Given the description of an element on the screen output the (x, y) to click on. 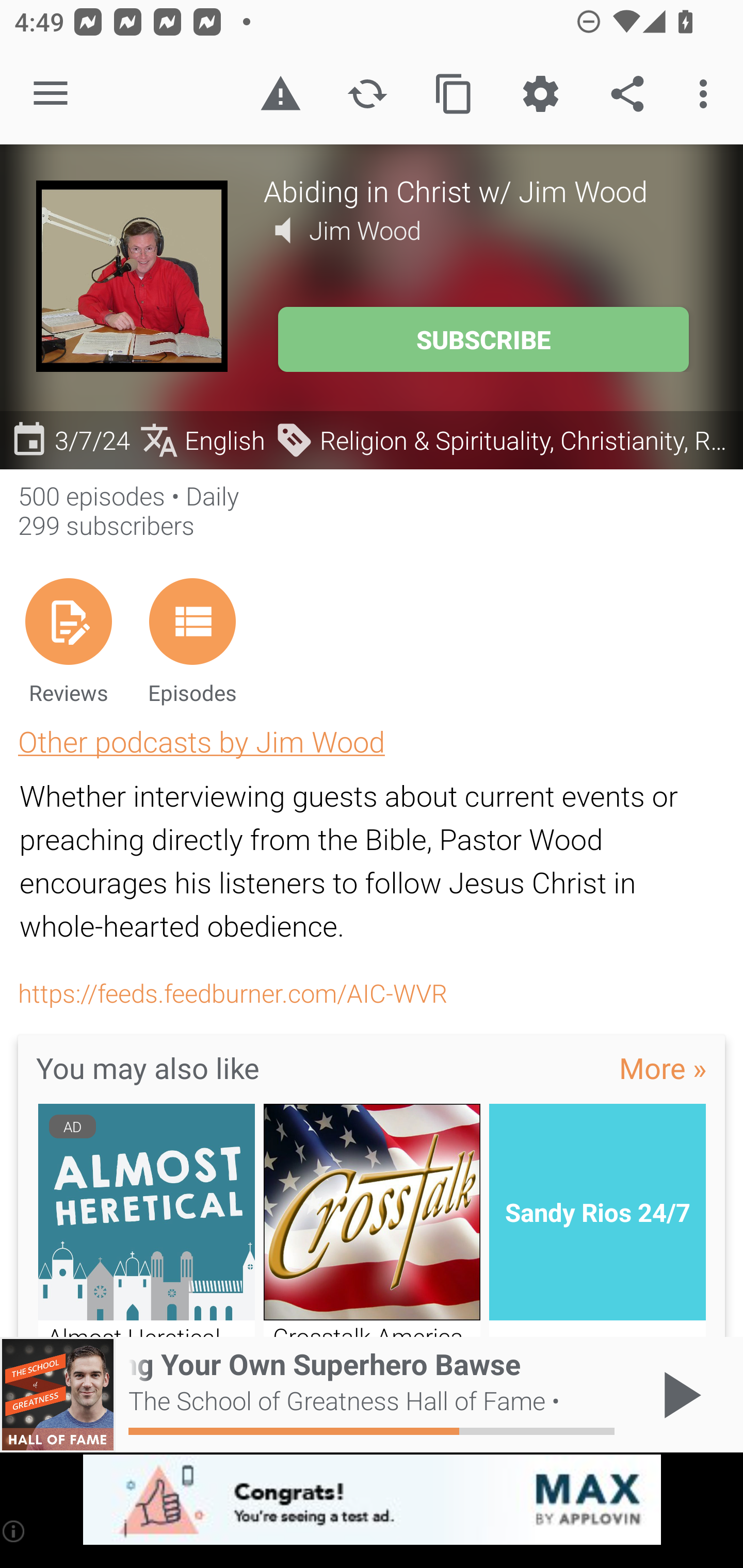
Open navigation sidebar (50, 93)
Report inappropriate content (280, 93)
Refresh podcast description (366, 93)
Copy feed url to clipboard (453, 93)
Custom Settings (540, 93)
Share the podcast (626, 93)
More options (706, 93)
Abiding in Christ w/ Jim Wood (484, 190)
Jim Wood (365, 230)
SUBSCRIBE (482, 339)
Reviews (68, 640)
Episodes (192, 640)
Other podcasts by Jim Wood (200, 740)
More » (662, 1066)
AD Almost Heretical - Deconstruct Christianity (145, 1220)
Crosstalk America from VCY America (371, 1220)
Sandy Rios 24/7 (596, 1220)
Play / Pause (677, 1394)
app-monetization (371, 1500)
(i) (14, 1531)
